Given the description of an element on the screen output the (x, y) to click on. 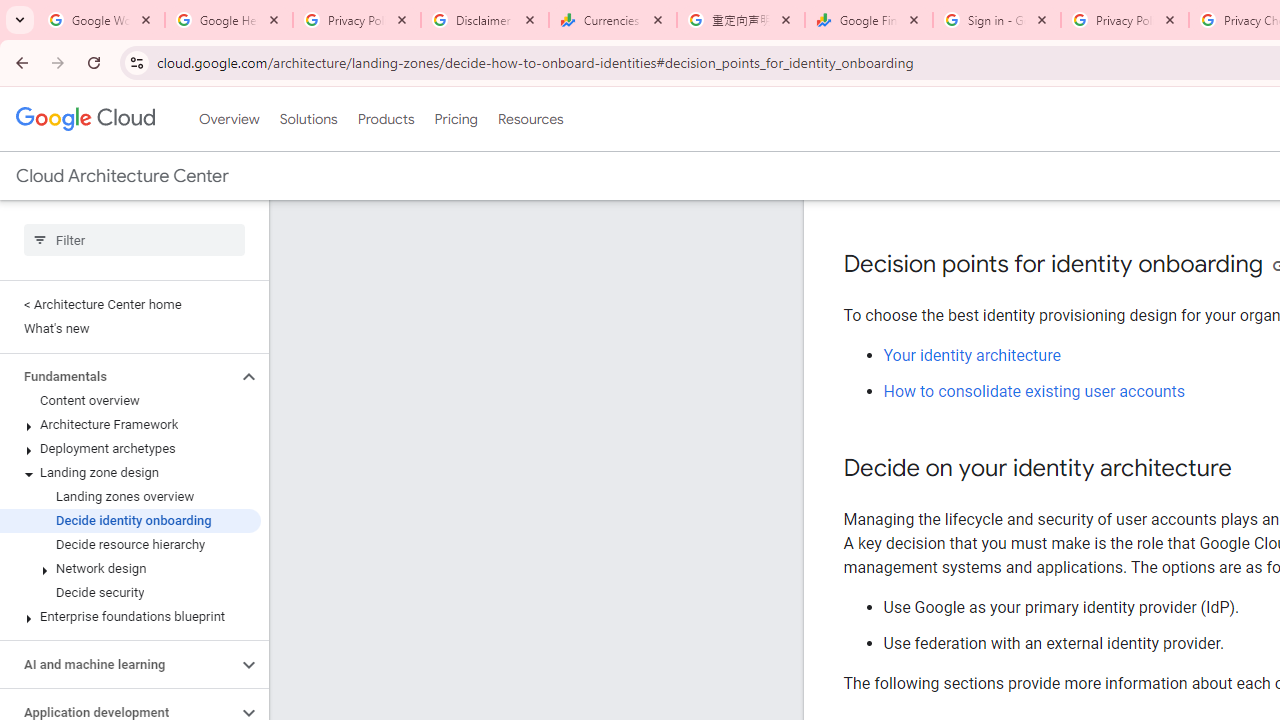
Network design (130, 569)
How to consolidate existing user accounts (1034, 391)
Google Workspace Admin Community (101, 20)
Landing zones overview (130, 497)
Decide identity onboarding (130, 520)
Fundamentals (118, 376)
Architecture Framework (130, 425)
Deployment archetypes (130, 448)
< Architecture Center home (130, 304)
